Given the description of an element on the screen output the (x, y) to click on. 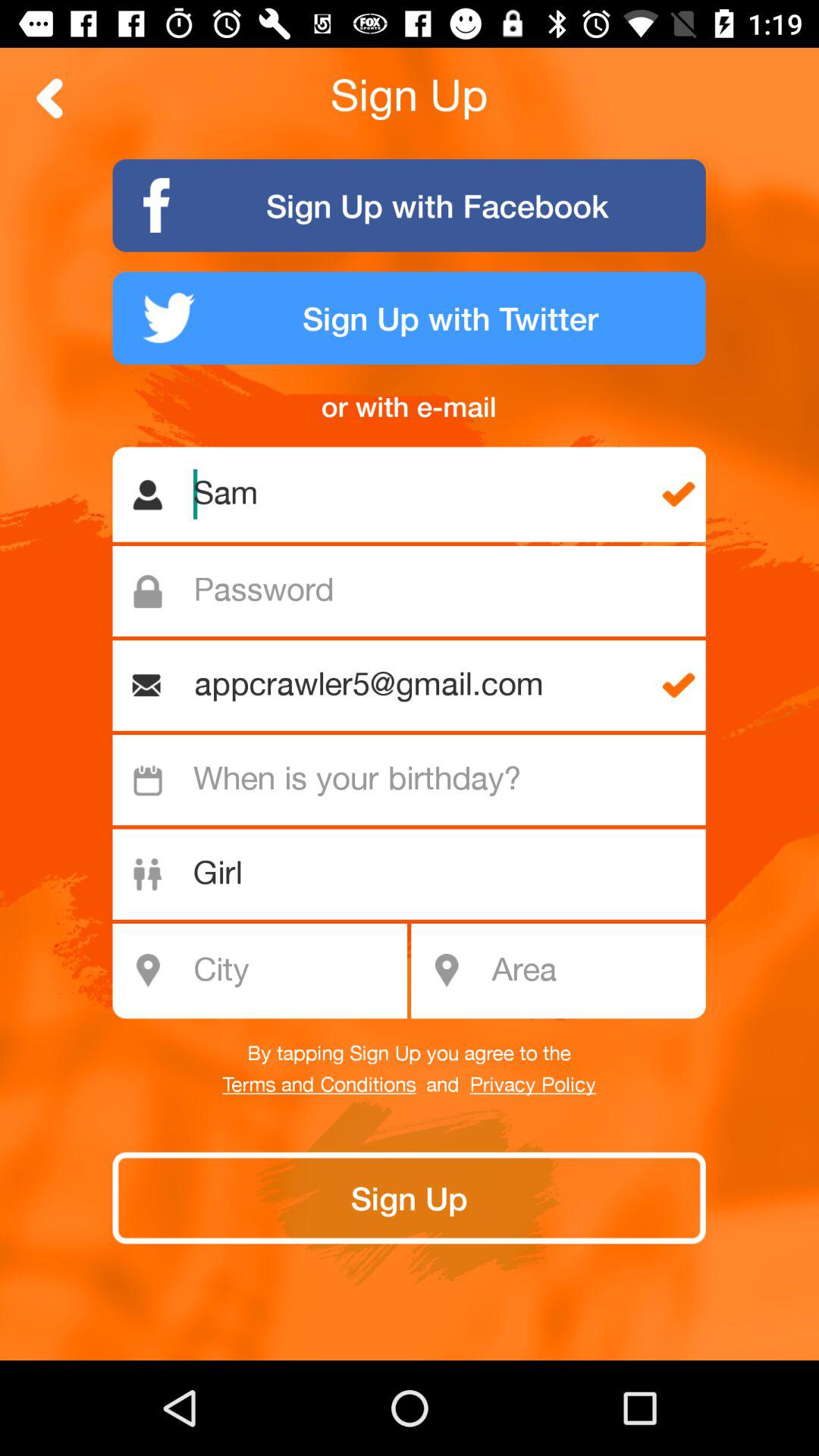
introduce area (593, 970)
